Given the description of an element on the screen output the (x, y) to click on. 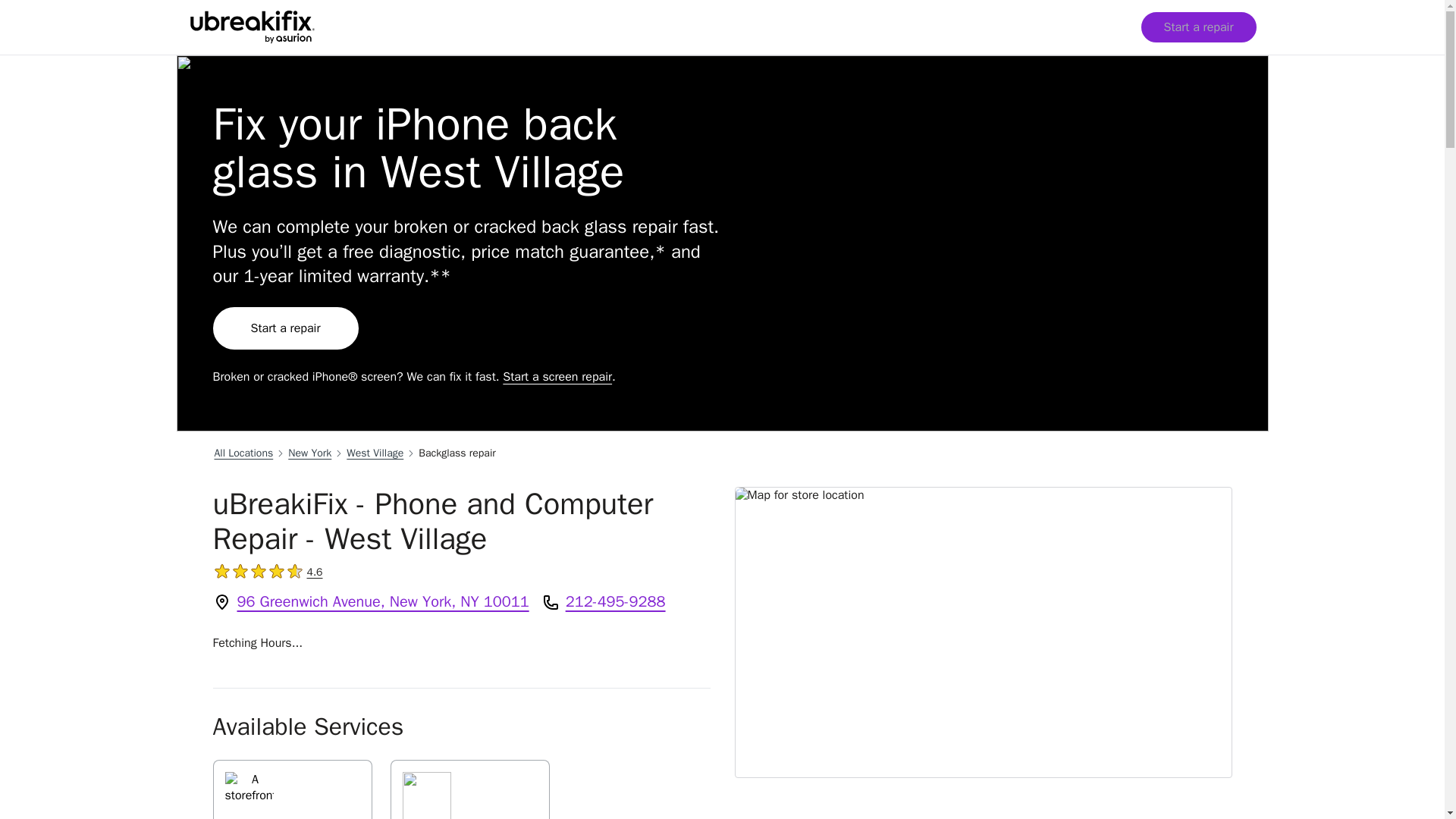
West Village (291, 789)
New York (374, 453)
Start a screen repair (309, 453)
Start a repair (556, 376)
Start a repair (1197, 27)
4.6 (285, 328)
212-495-9288 (313, 571)
All Locations (469, 789)
